Given the description of an element on the screen output the (x, y) to click on. 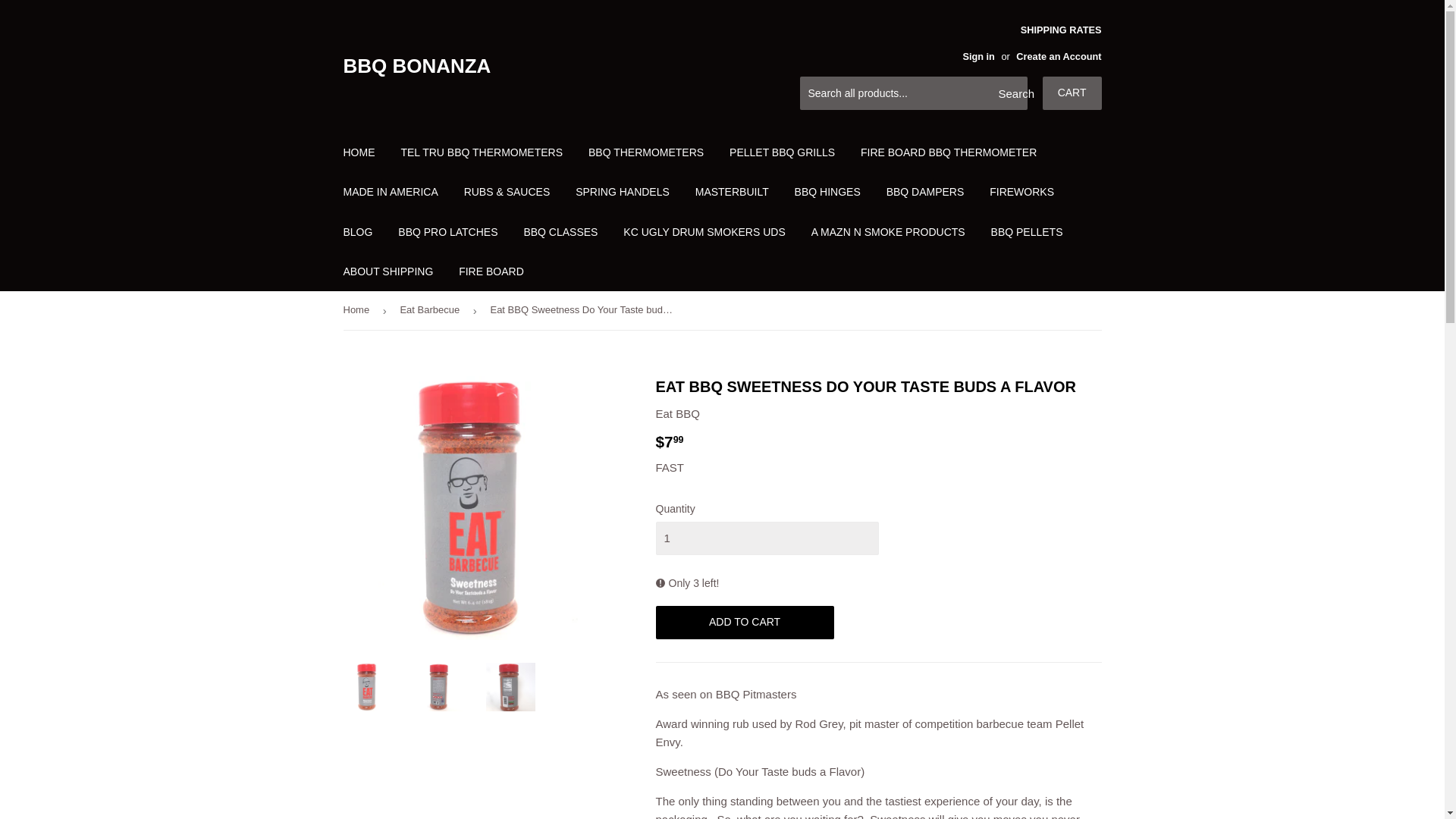
CART (1072, 92)
Search (1009, 93)
BBQ BONANZA (532, 65)
Sign in (978, 56)
SHIPPING RATES (1025, 42)
1 (766, 538)
Create an Account (1058, 56)
